Given the description of an element on the screen output the (x, y) to click on. 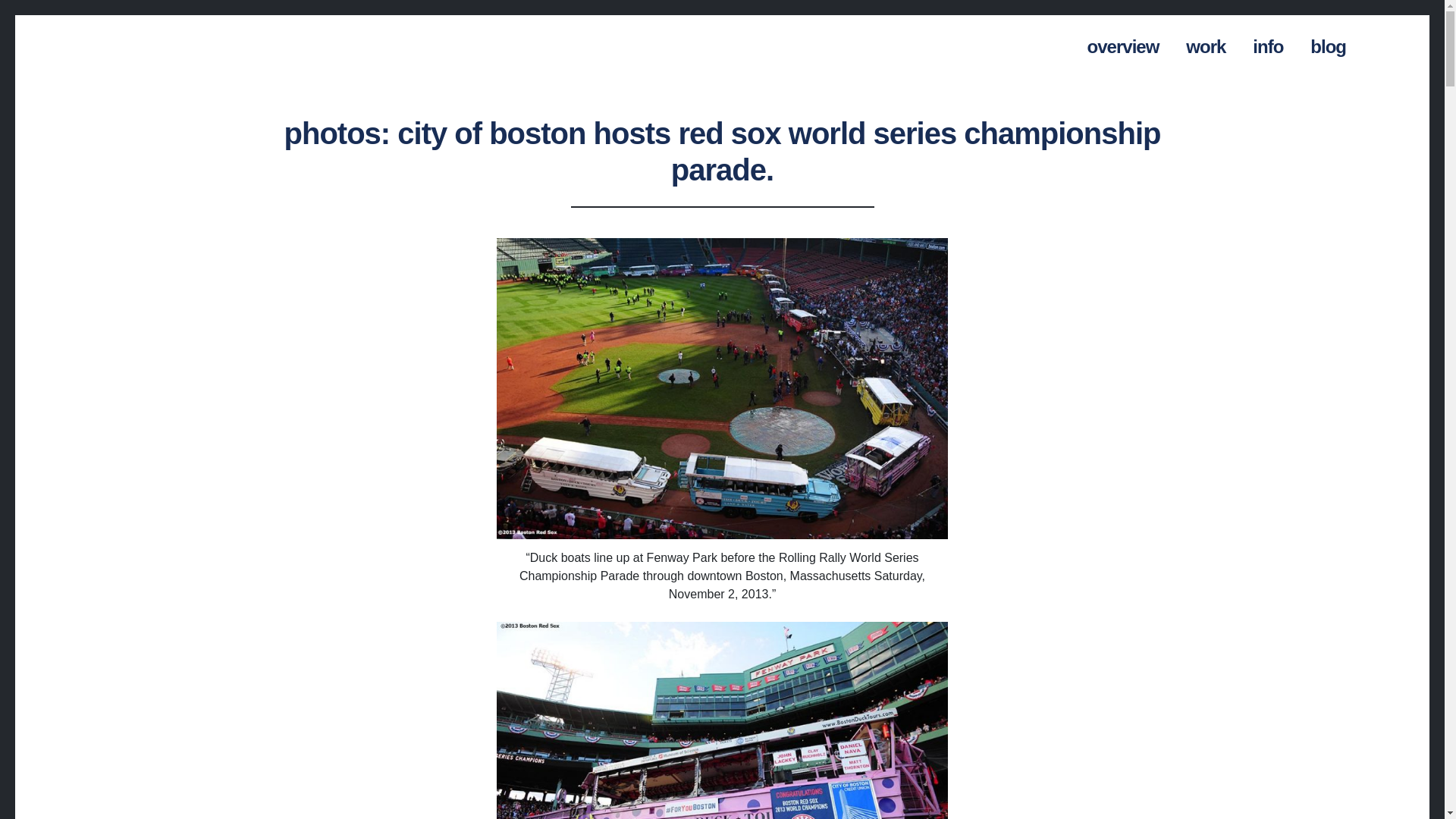
overview (1123, 43)
info (1267, 43)
work (1205, 43)
blog (1328, 43)
